Given the description of an element on the screen output the (x, y) to click on. 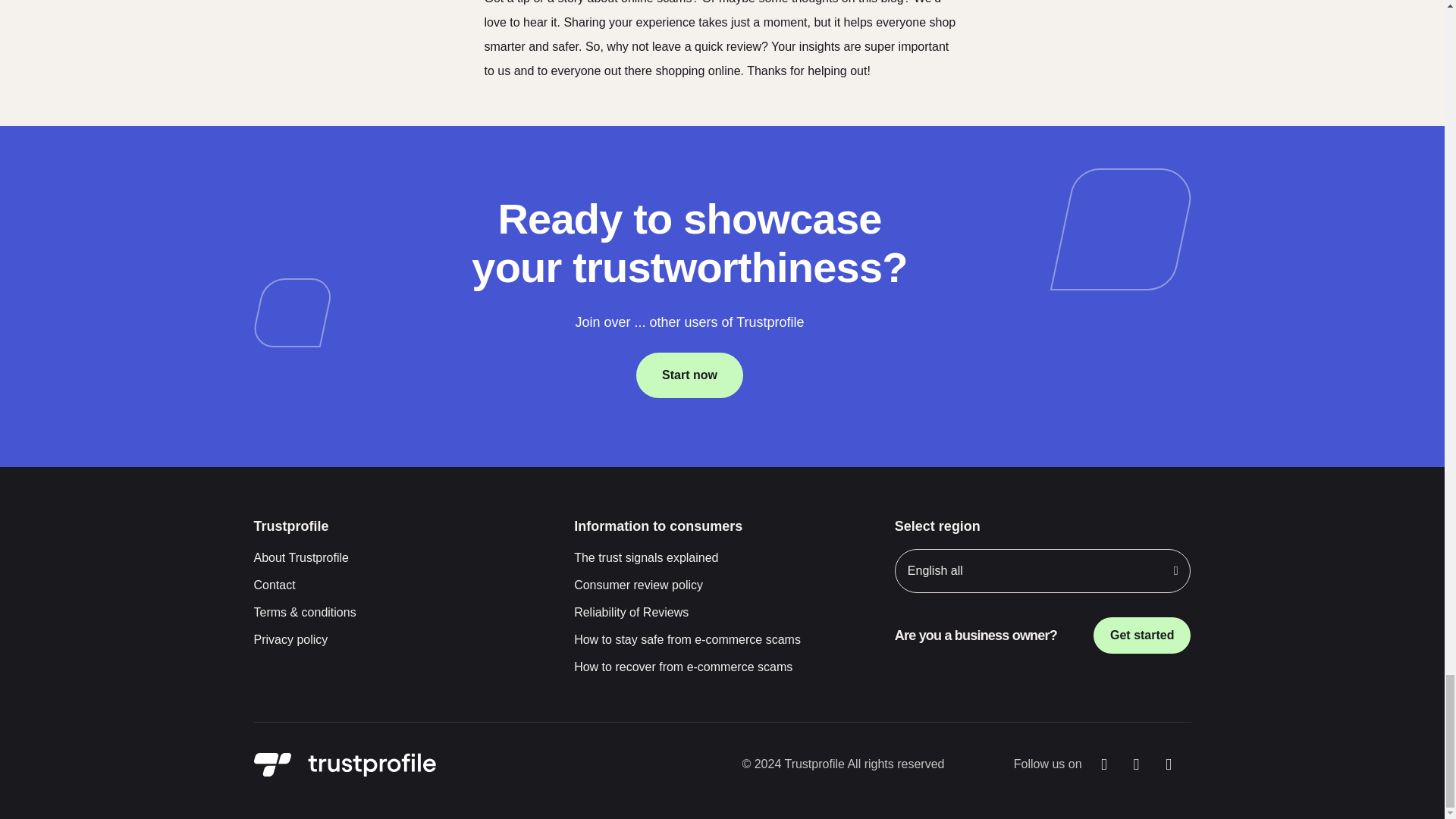
Consumer review policy (721, 585)
About Trustprofile (401, 557)
Privacy policy (401, 639)
How to stay safe from e-commerce scams (721, 639)
Start now (689, 375)
The trust signals explained (721, 557)
Instagram (1136, 763)
Facebook (1104, 763)
Linkedin (1168, 763)
How to recover from e-commerce scams (721, 667)
Reliability of Reviews (721, 612)
English all (1043, 570)
Contact (401, 585)
